Given the description of an element on the screen output the (x, y) to click on. 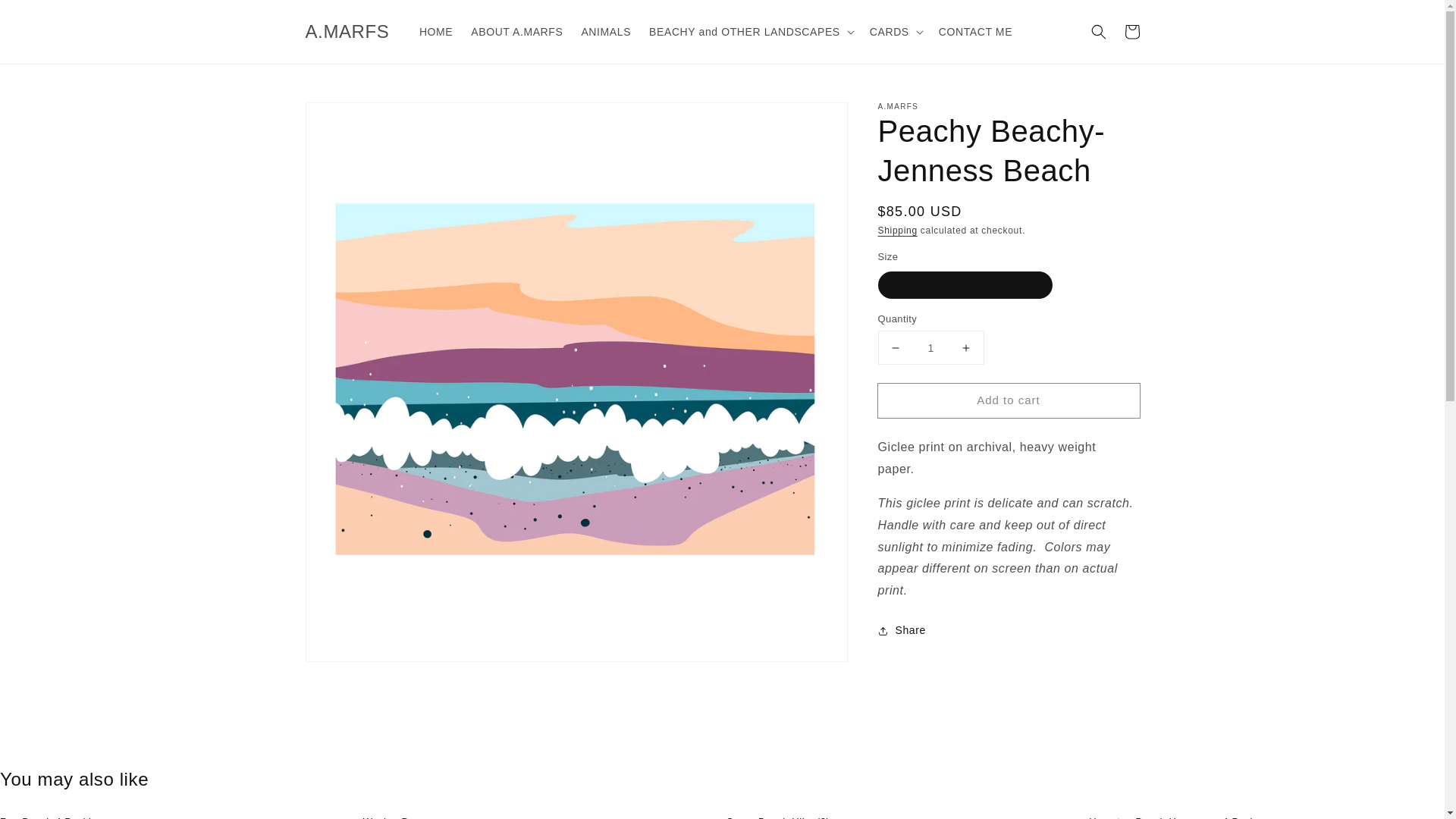
1 (930, 347)
CONTACT ME (976, 31)
ABOUT A.MARFS (516, 31)
A.MARFS (346, 30)
Cart (1131, 31)
ANIMALS (606, 31)
HOME (435, 31)
Skip to product information (350, 118)
Skip to content (45, 16)
